Given the description of an element on the screen output the (x, y) to click on. 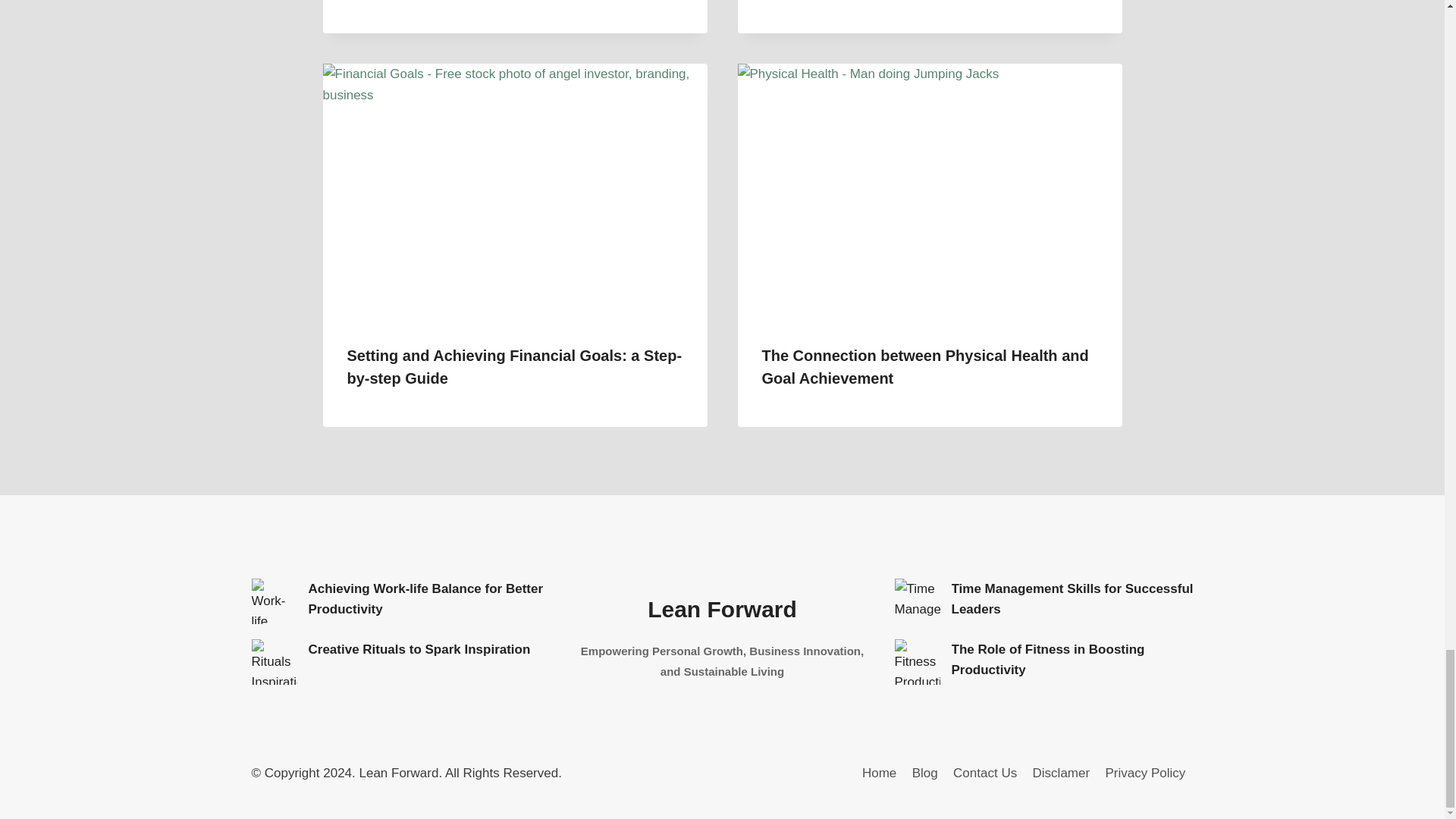
Time Management Skills for Successful Leaders (1071, 598)
Creative Rituals to Spark Inspiration (274, 661)
Time Management Skills for Successful Leaders (917, 601)
Creative Rituals to Spark Inspiration (418, 649)
Achieving Work-life Balance for Better Productivity (425, 598)
Achieving Work-life Balance for Better Productivity (274, 601)
Setting and Achieving Financial Goals: a Step-by-step Guide (514, 366)
The Connection between Physical Health and Goal Achievement (924, 366)
The Role of Fitness in Boosting Productivity (917, 661)
